Given the description of an element on the screen output the (x, y) to click on. 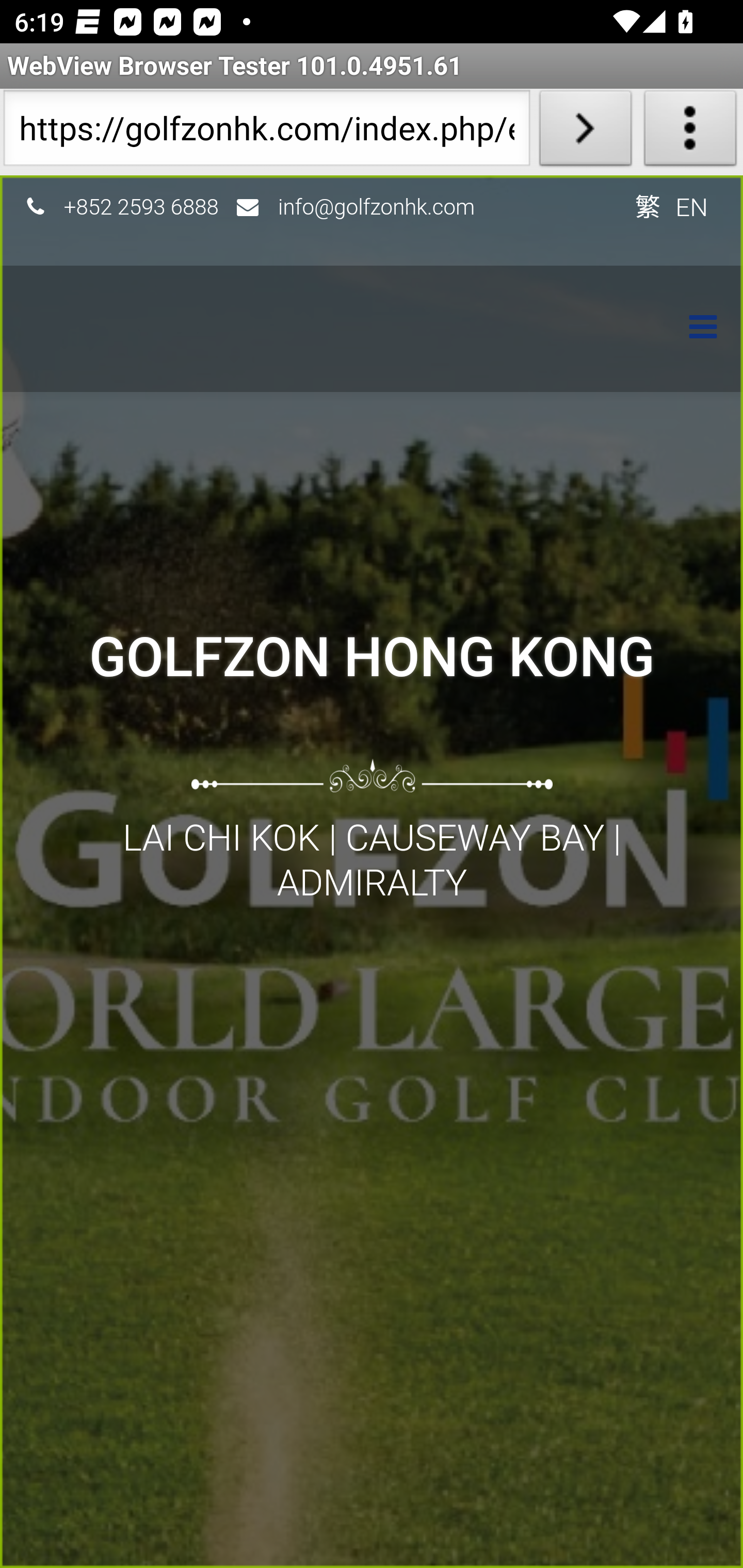
Load URL (585, 132)
About WebView (690, 132)
info@golfzonhk.com (377, 205)
繁 (647, 205)
EN (692, 205)
 (693, 328)
